Given the description of an element on the screen output the (x, y) to click on. 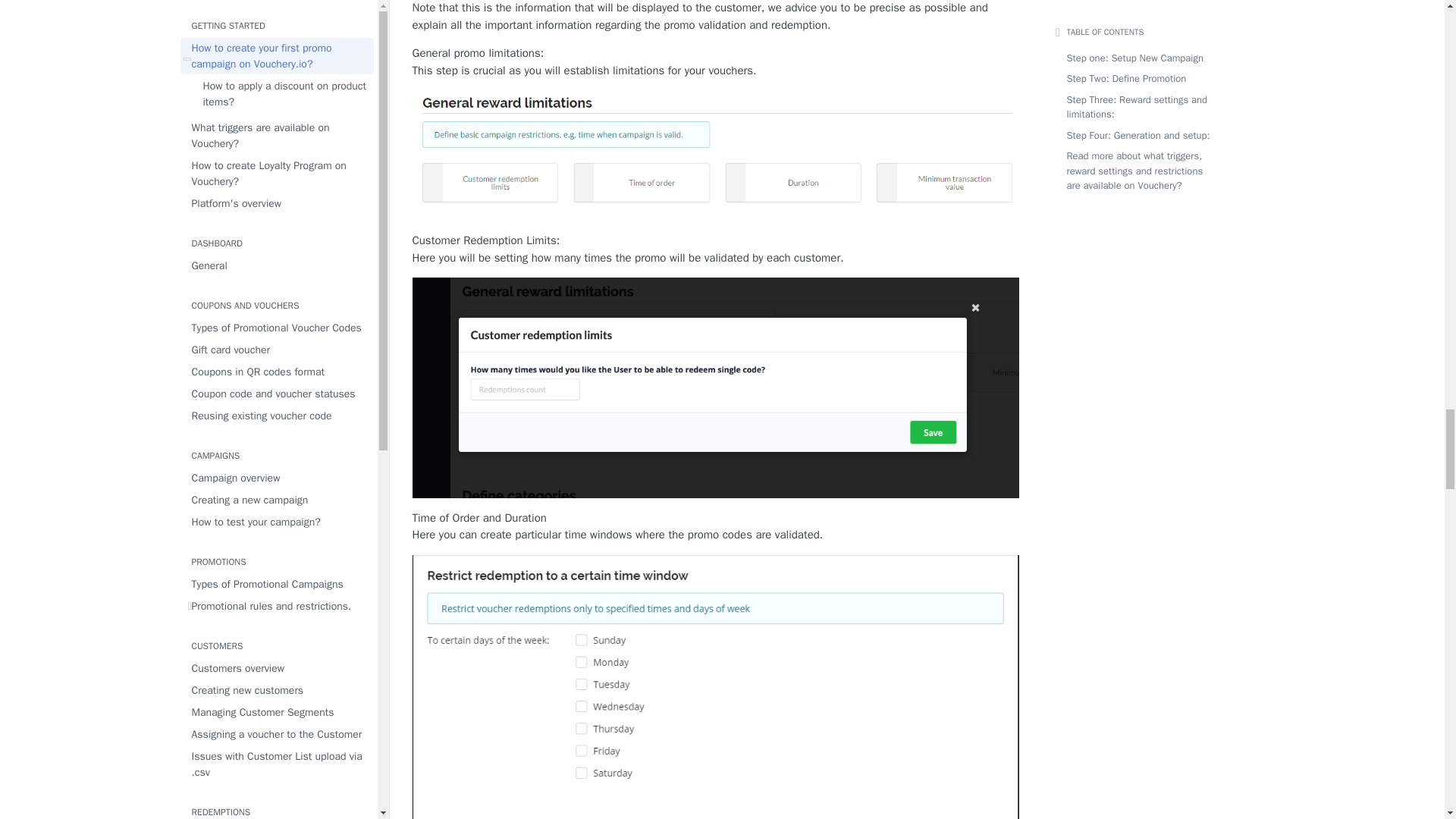
general reward limitations.png (715, 155)
